Given the description of an element on the screen output the (x, y) to click on. 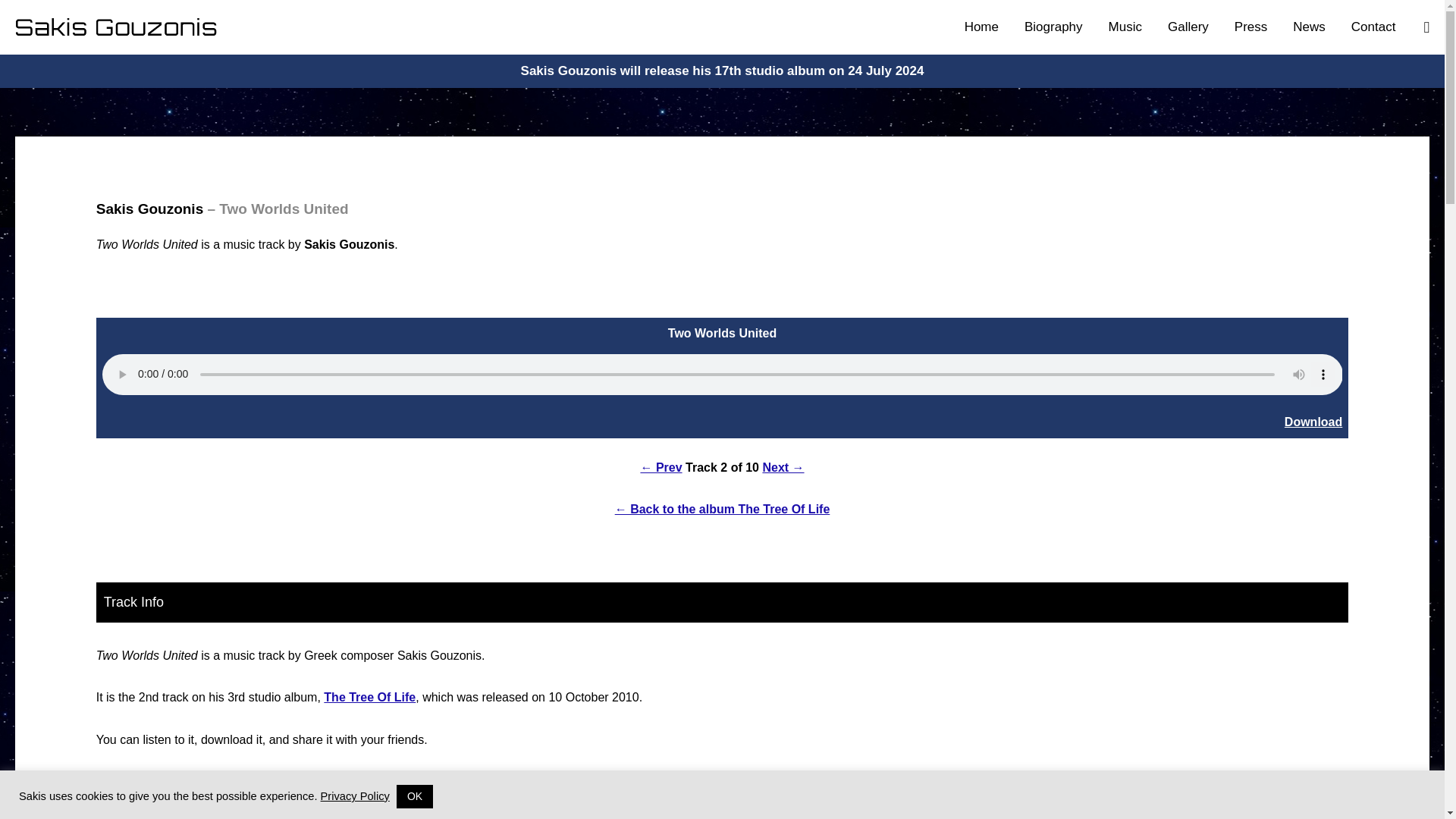
The Tree Of Life by Sakis Gouzonis (721, 508)
Biography (1053, 26)
Press (1250, 26)
The Tree Of Life (368, 697)
Gallery (1187, 26)
Home (981, 26)
News (1308, 26)
Download (1313, 421)
OK (414, 796)
The Tree Of Life by Sakis Gouzonis (368, 697)
Music (1125, 26)
Privacy Policy (355, 796)
Contact (1373, 26)
